Given the description of an element on the screen output the (x, y) to click on. 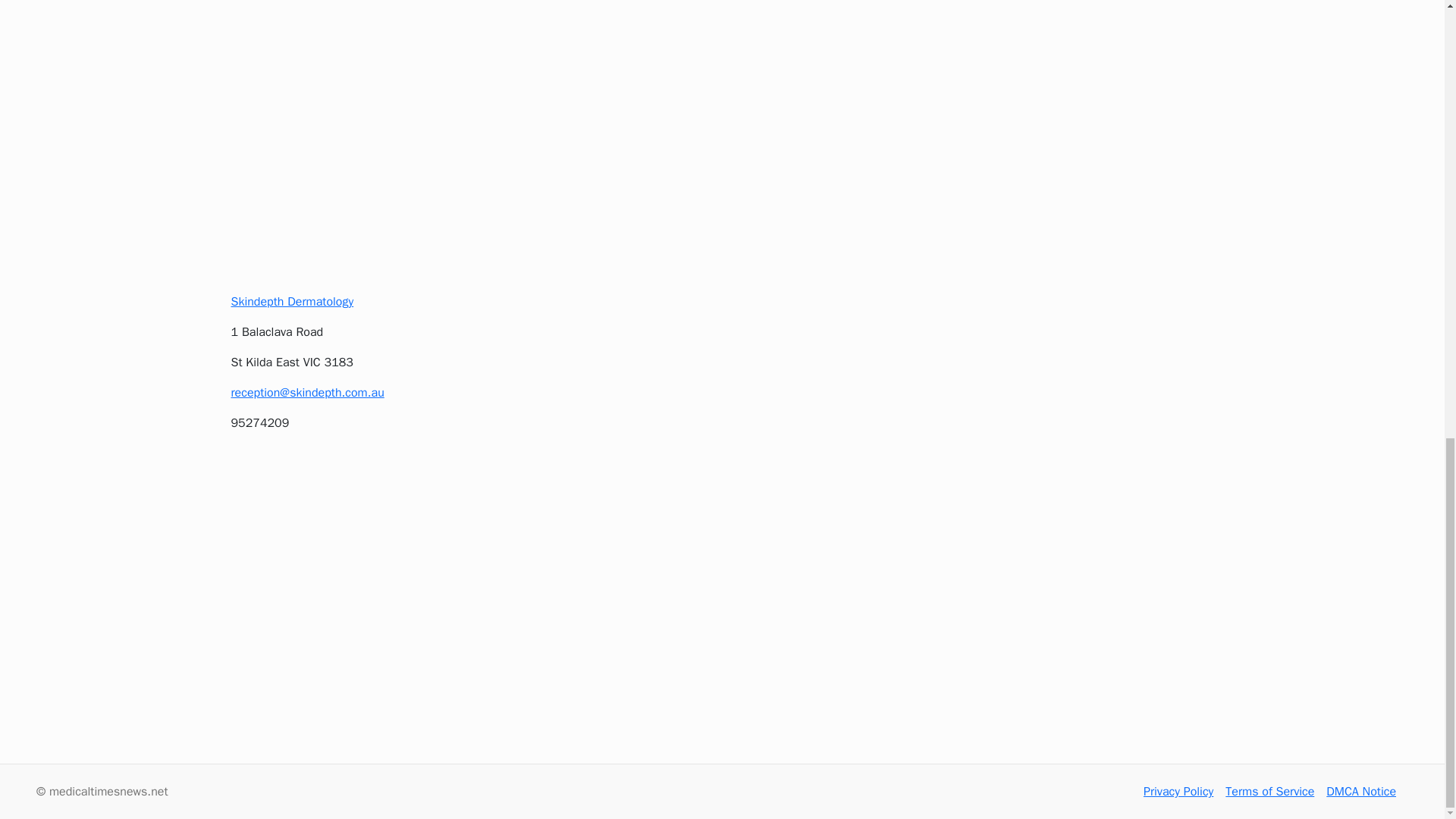
Skindepth Dermatology (291, 301)
DMCA Notice (1361, 791)
Privacy Policy (1177, 791)
Terms of Service (1269, 791)
